Given the description of an element on the screen output the (x, y) to click on. 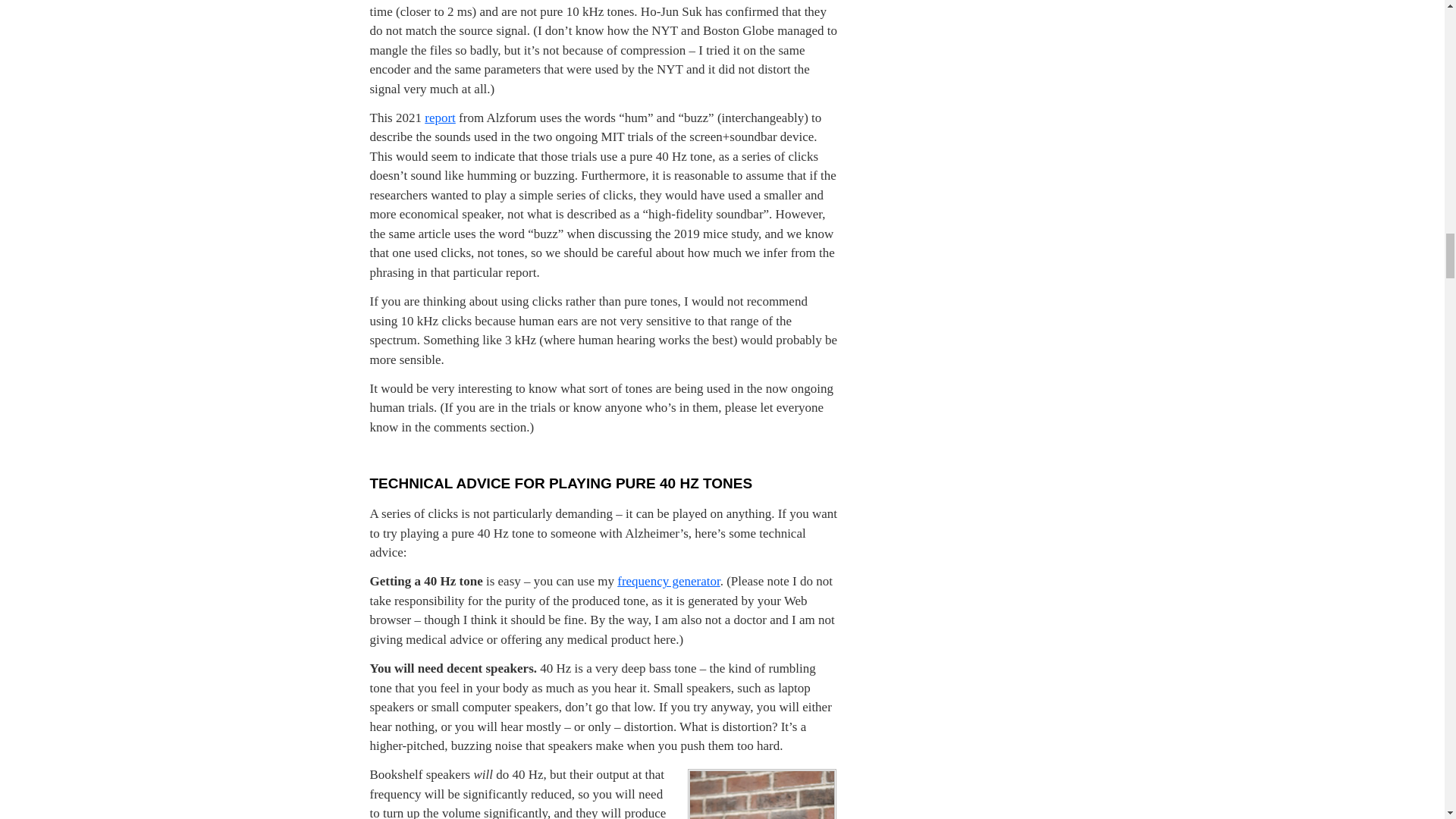
report (440, 117)
